Given the description of an element on the screen output the (x, y) to click on. 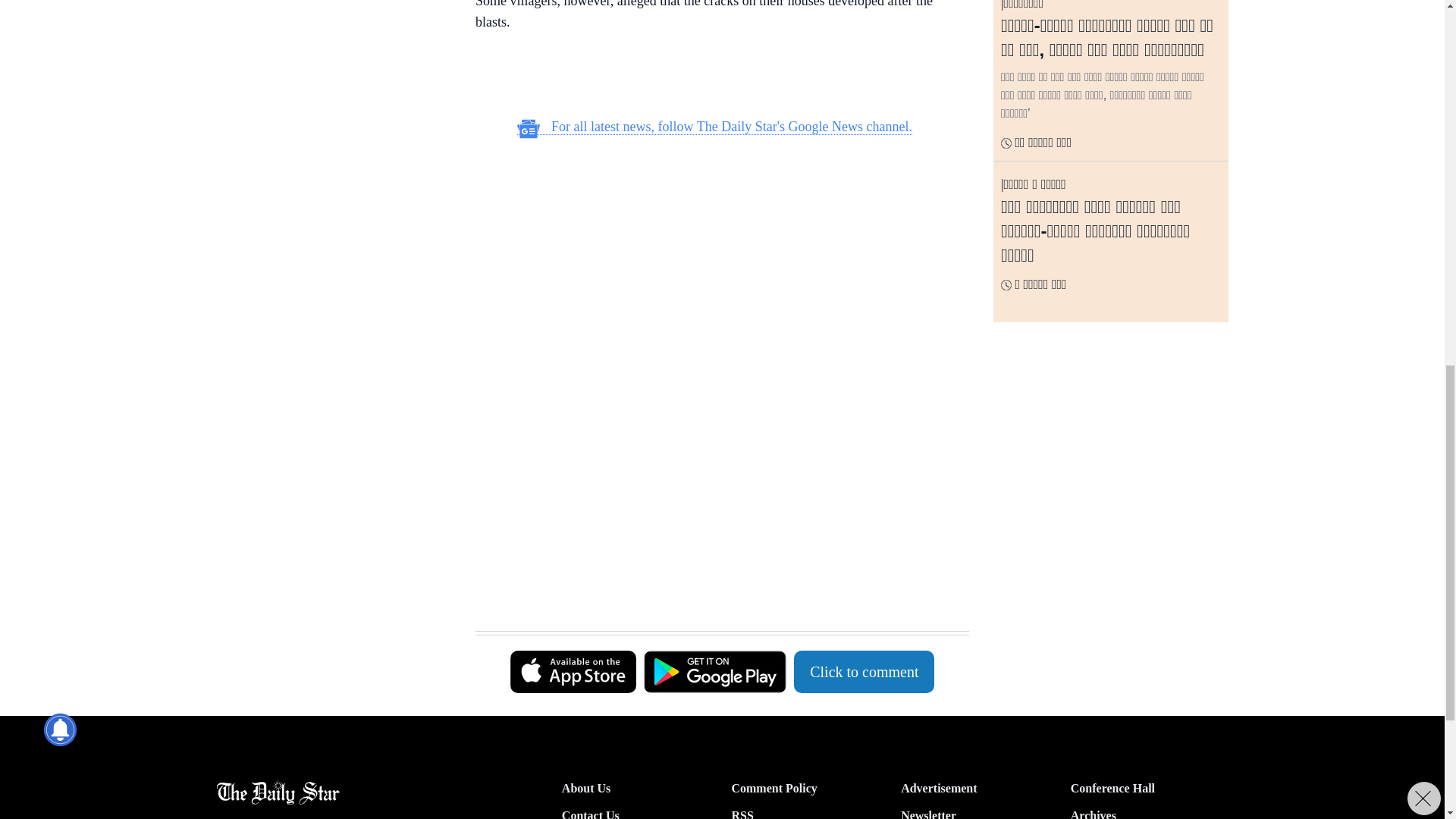
3rd party ad content (332, 103)
3rd party ad content (714, 592)
3rd party ad content (714, 76)
3rd party ad content (713, 452)
3rd party ad content (713, 248)
